Given the description of an element on the screen output the (x, y) to click on. 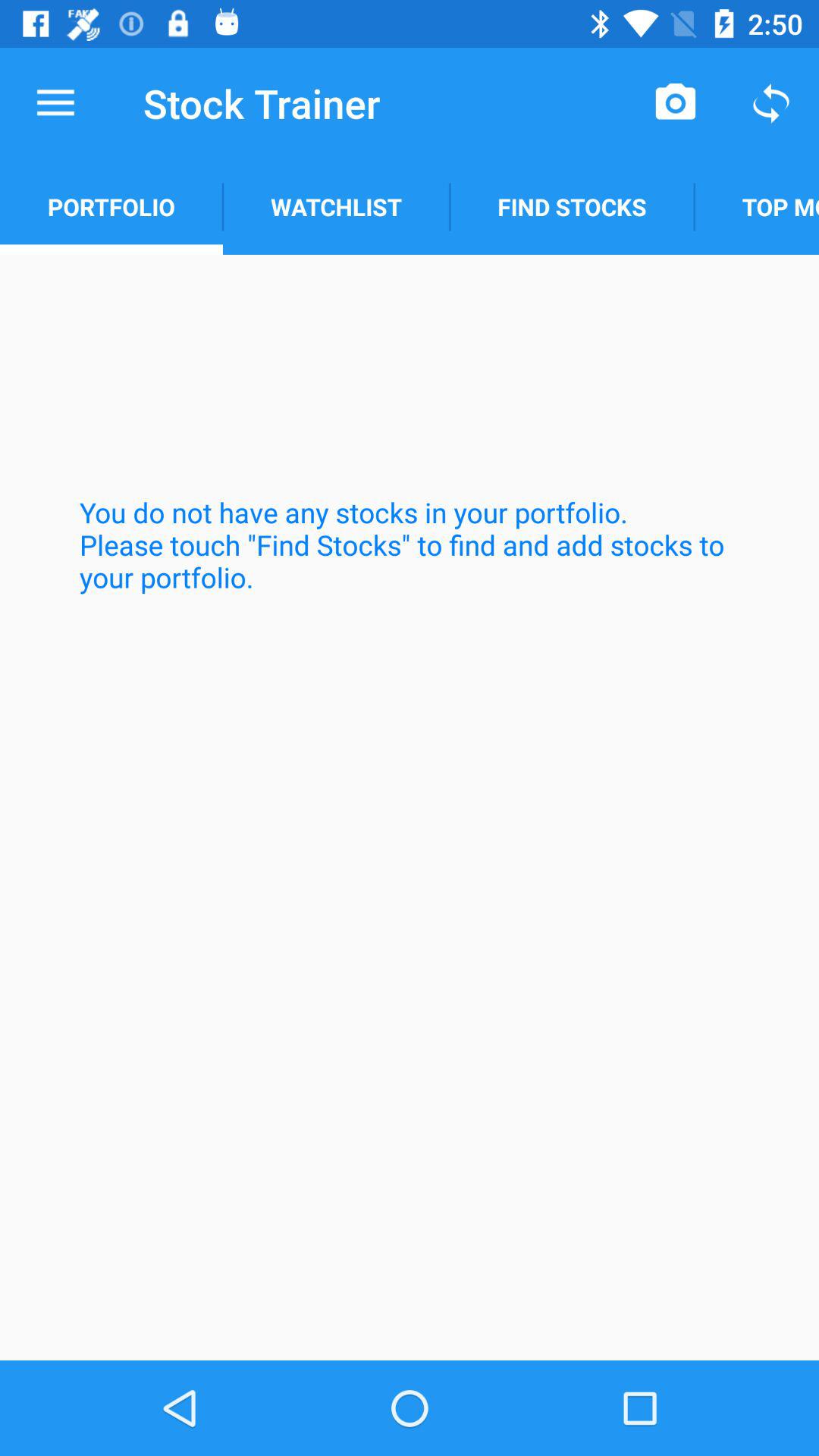
flip to top movers icon (756, 206)
